Given the description of an element on the screen output the (x, y) to click on. 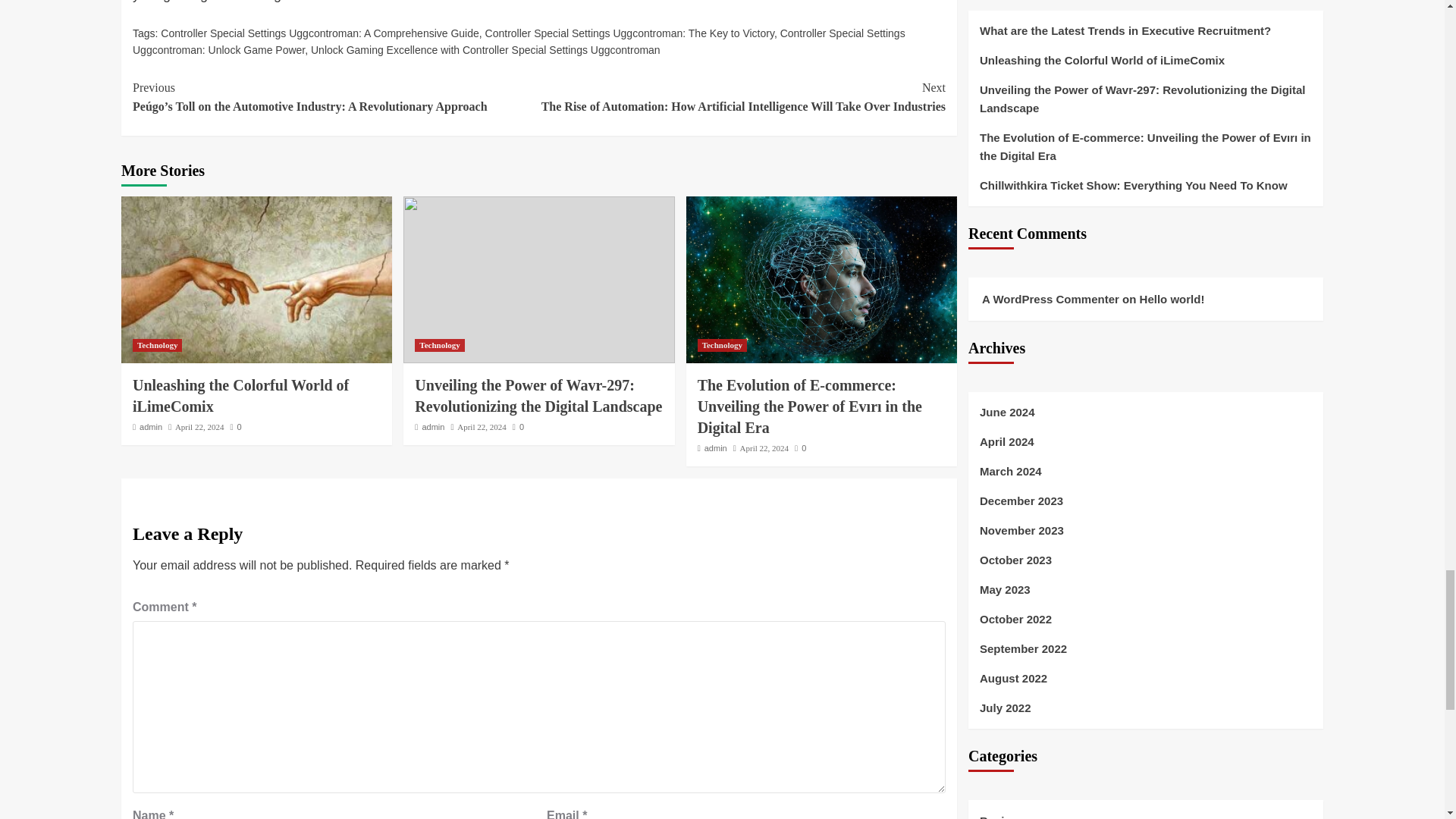
0 (518, 426)
0 (235, 426)
April 22, 2024 (199, 426)
admin (150, 426)
April 22, 2024 (764, 447)
0 (800, 447)
Controller Special Settings Uggcontroman: Unlock Game Power (518, 41)
admin (433, 426)
Technology (439, 345)
April 22, 2024 (481, 426)
Technology (157, 345)
